Given the description of an element on the screen output the (x, y) to click on. 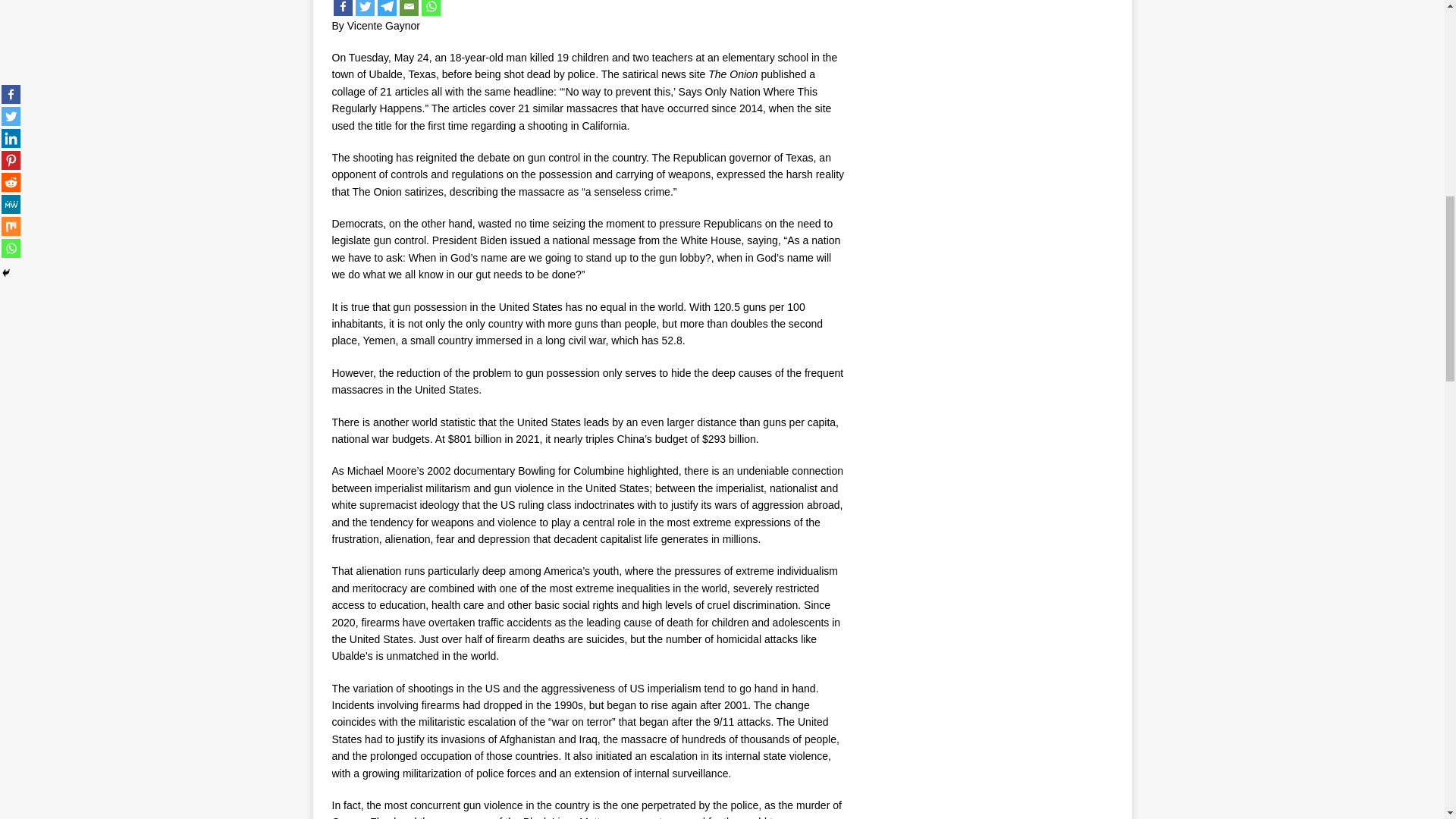
Email (407, 7)
Whatsapp (431, 7)
Facebook (342, 7)
Twitter (364, 7)
Telegram (386, 7)
